Given the description of an element on the screen output the (x, y) to click on. 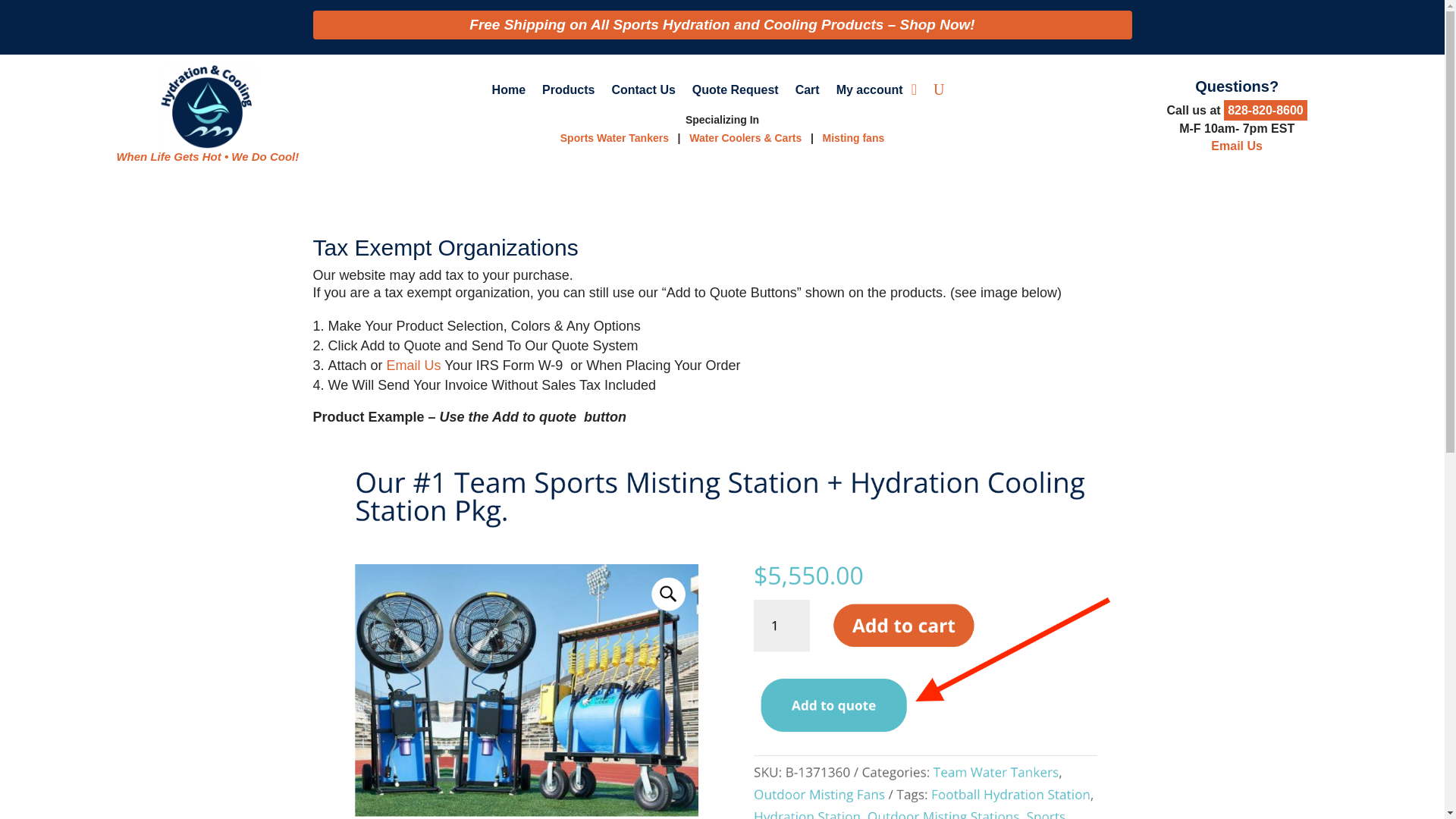
Contact Us (643, 93)
Home (508, 93)
Email Us (414, 365)
Quote Request (735, 93)
Cart (806, 93)
My account (868, 93)
Products (567, 93)
Sports Water Tankers (614, 137)
Misting fans (853, 137)
Email Us (1236, 145)
